Given the description of an element on the screen output the (x, y) to click on. 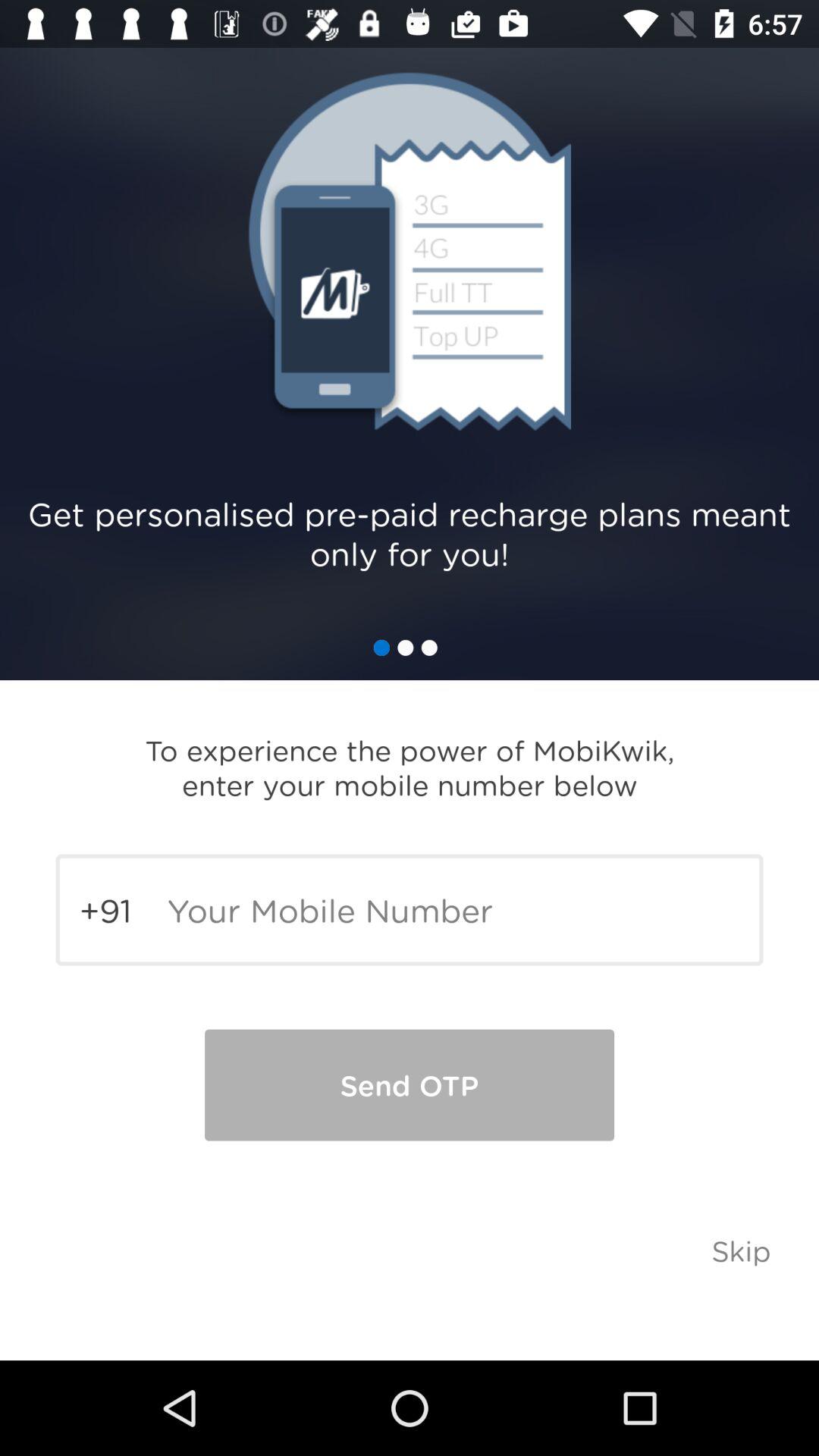
phone number text box (409, 909)
